Given the description of an element on the screen output the (x, y) to click on. 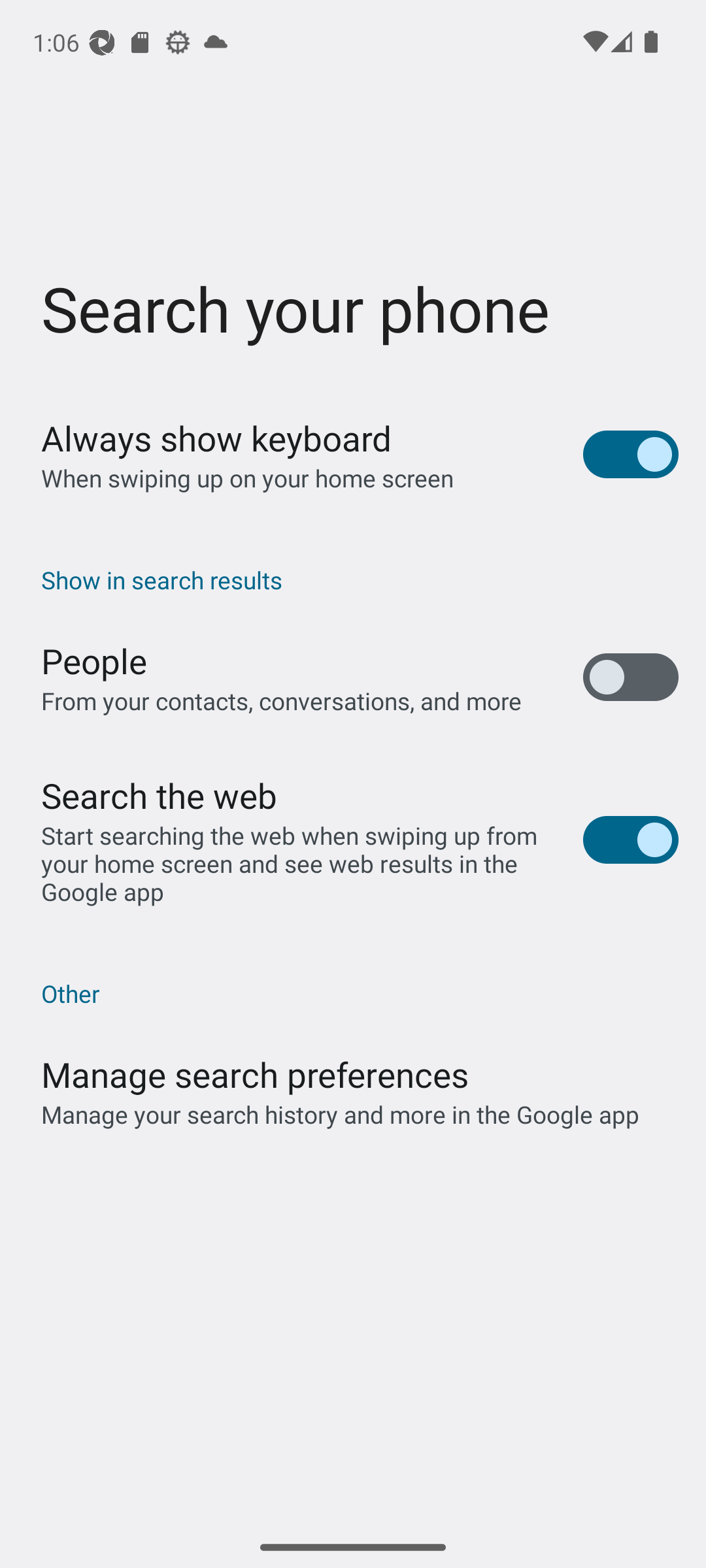
People From your contacts, conversations, and more (353, 676)
